Given the description of an element on the screen output the (x, y) to click on. 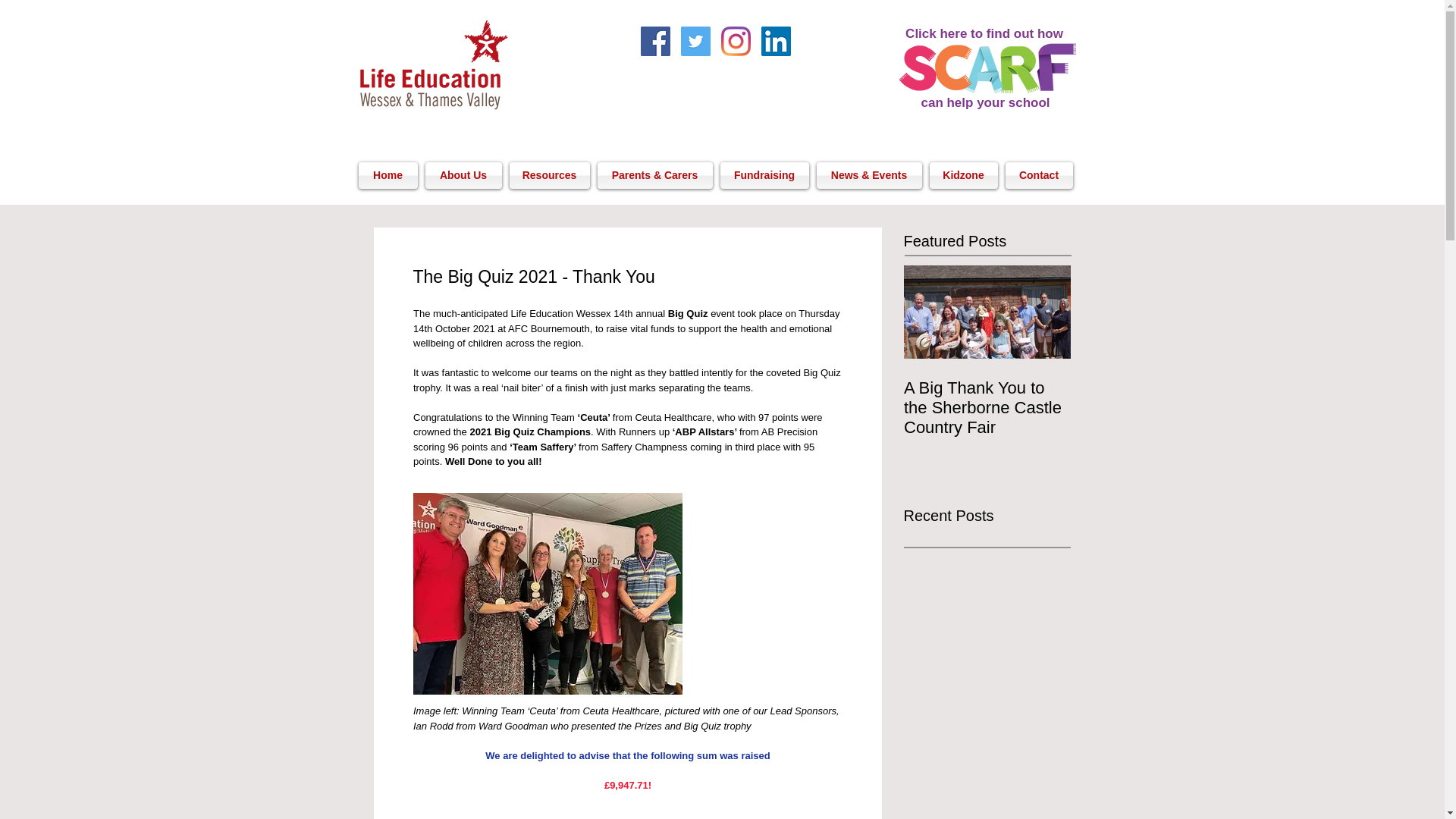
can help your school (984, 102)
Contact (1036, 175)
Kidzone (962, 175)
Fundraising (764, 175)
Home (389, 175)
Click here to find out how (983, 33)
About Us (463, 175)
